Given the description of an element on the screen output the (x, y) to click on. 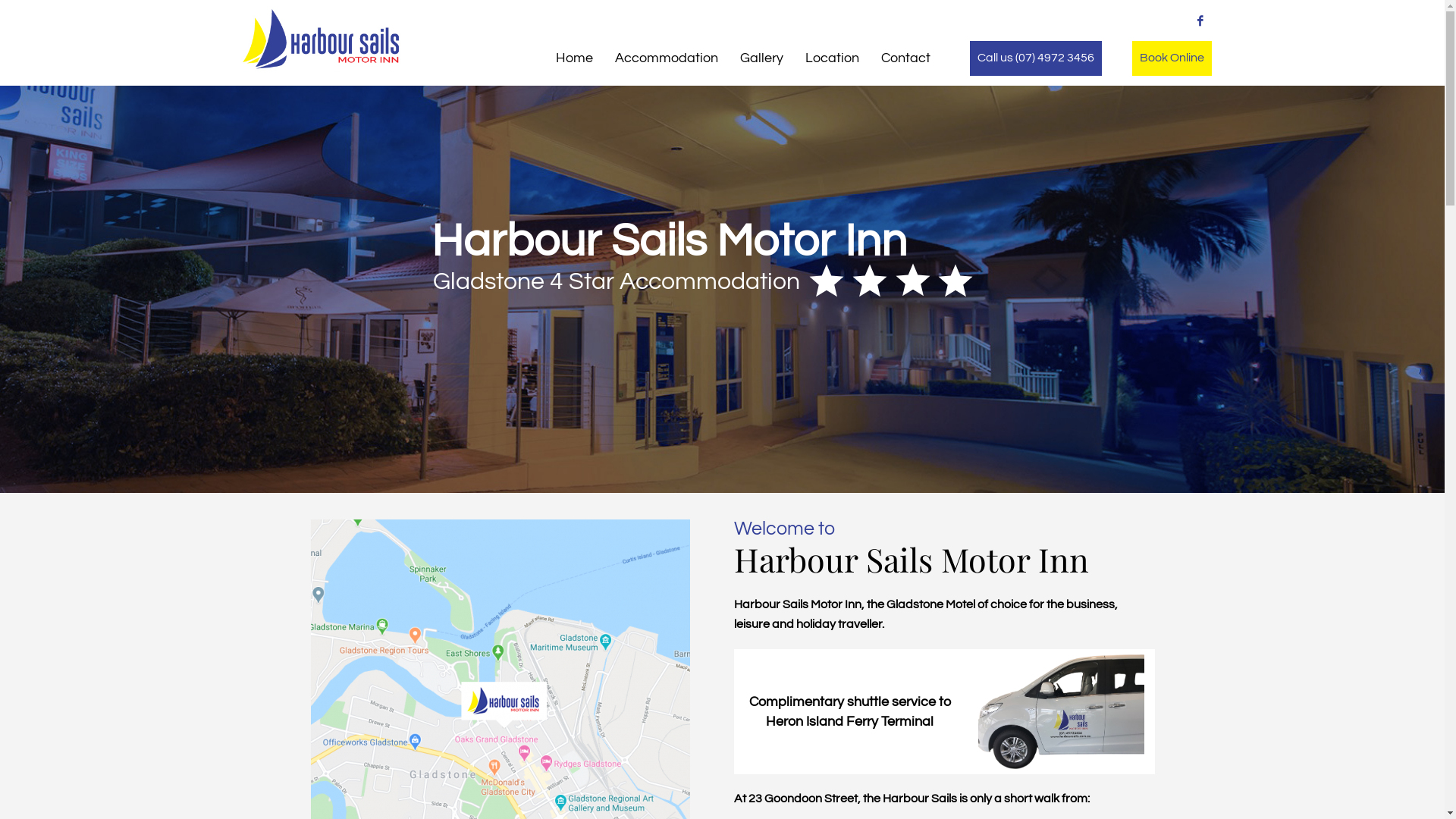
Book Online Element type: text (1171, 57)
Location Element type: text (832, 58)
GLADSTONE 4 STAR ACCOMMODATION Element type: hover (323, 39)
Contact Element type: text (905, 58)
Gallery Element type: text (761, 58)
Accommodation Element type: text (666, 58)
Call us (07) 4972 3456 Element type: text (1035, 57)
fb Element type: hover (1200, 20)
Home Element type: text (574, 58)
